Given the description of an element on the screen output the (x, y) to click on. 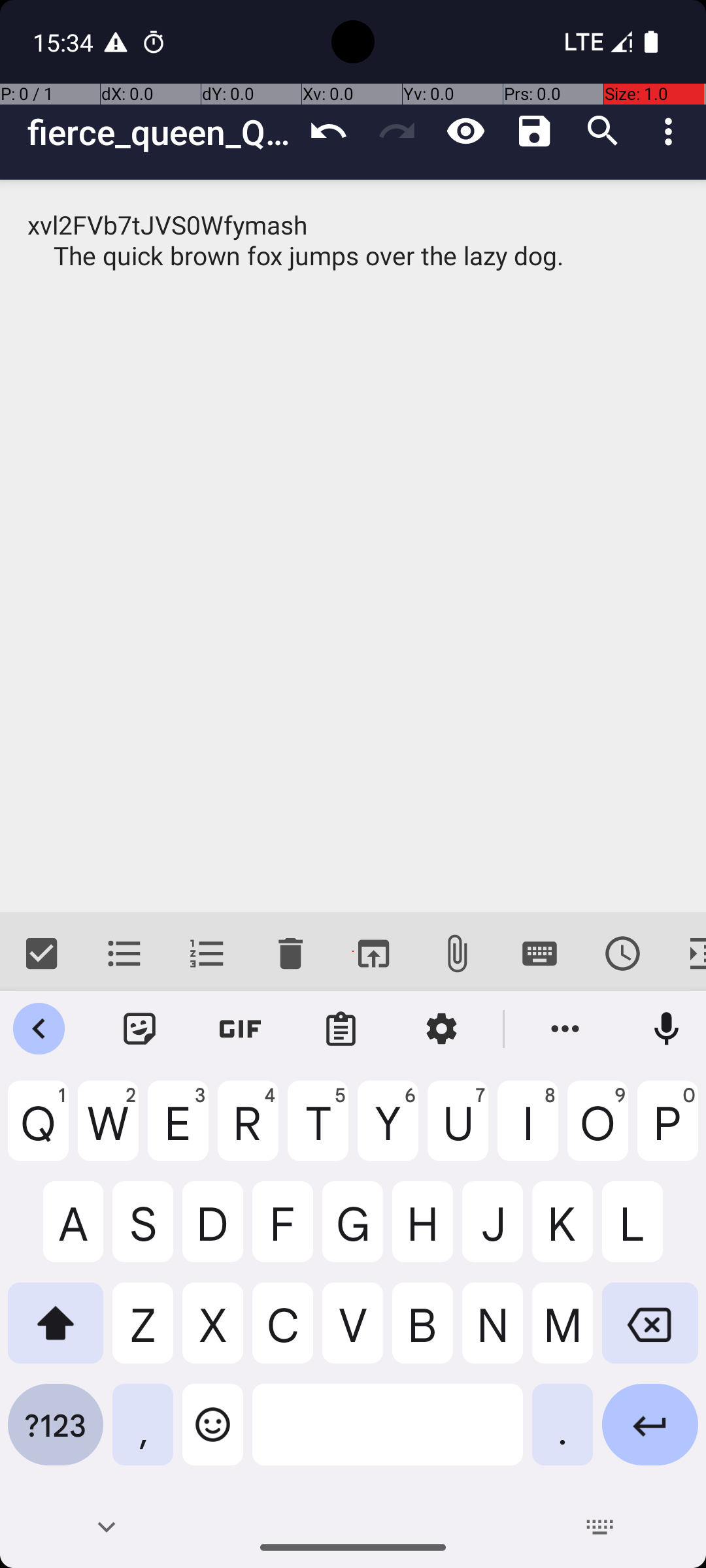
fierce_queen_QaaS Element type: android.widget.TextView (160, 131)
xvl2FVb7tJVS0Wfymash
    The quick brown fox jumps over the lazy dog.
     Element type: android.widget.EditText (353, 545)
Ordered list Element type: android.widget.ImageView (207, 953)
Indent Element type: android.widget.ImageView (685, 953)
